Given the description of an element on the screen output the (x, y) to click on. 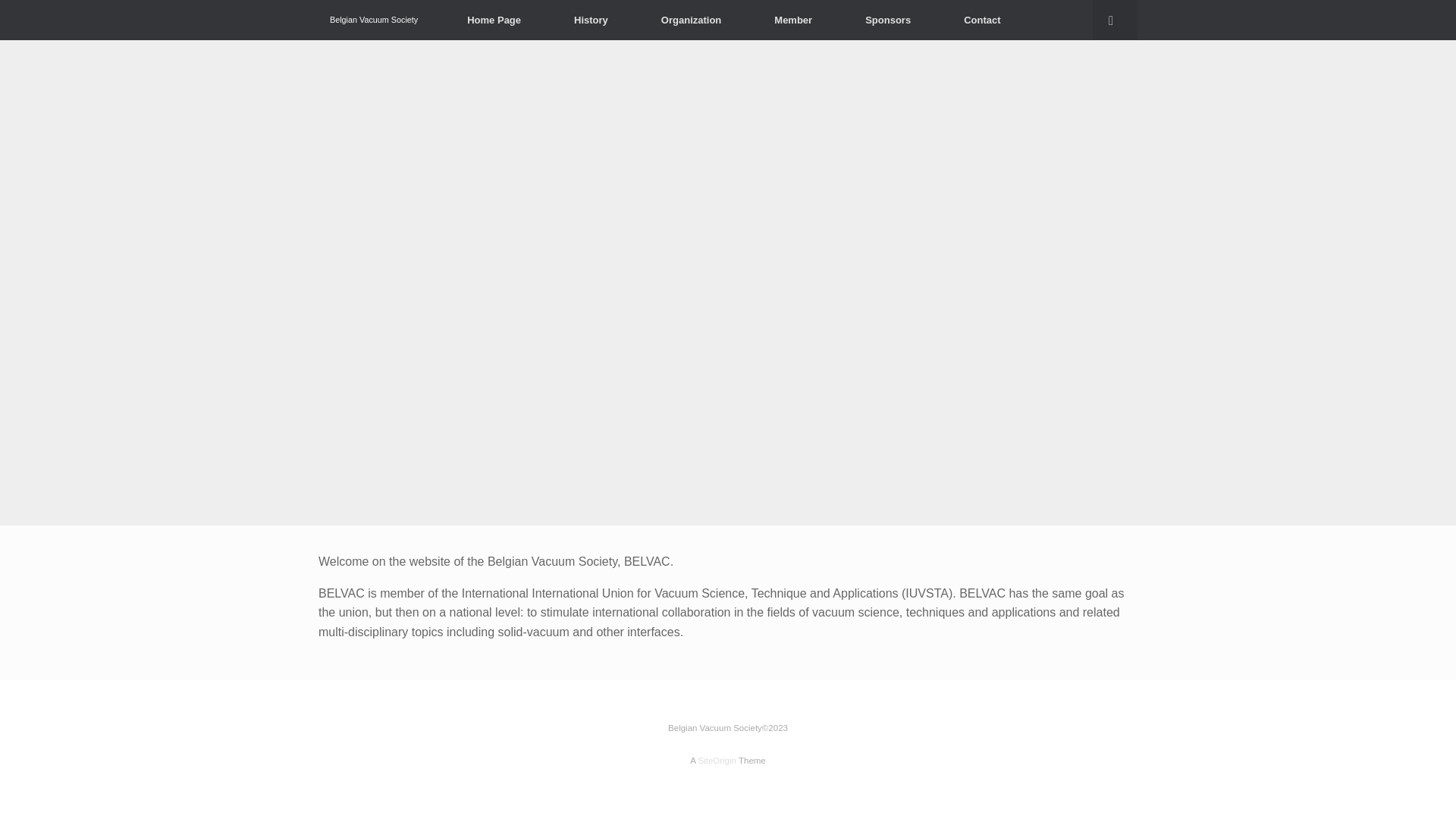
Belgian Vacuum Society Element type: text (373, 19)
Organization Element type: text (690, 20)
SiteOrigin Element type: text (716, 760)
Sponsors Element type: text (887, 20)
Contact Element type: text (981, 20)
Home Page Element type: text (493, 20)
Member Element type: text (792, 20)
History Element type: text (590, 20)
